Given the description of an element on the screen output the (x, y) to click on. 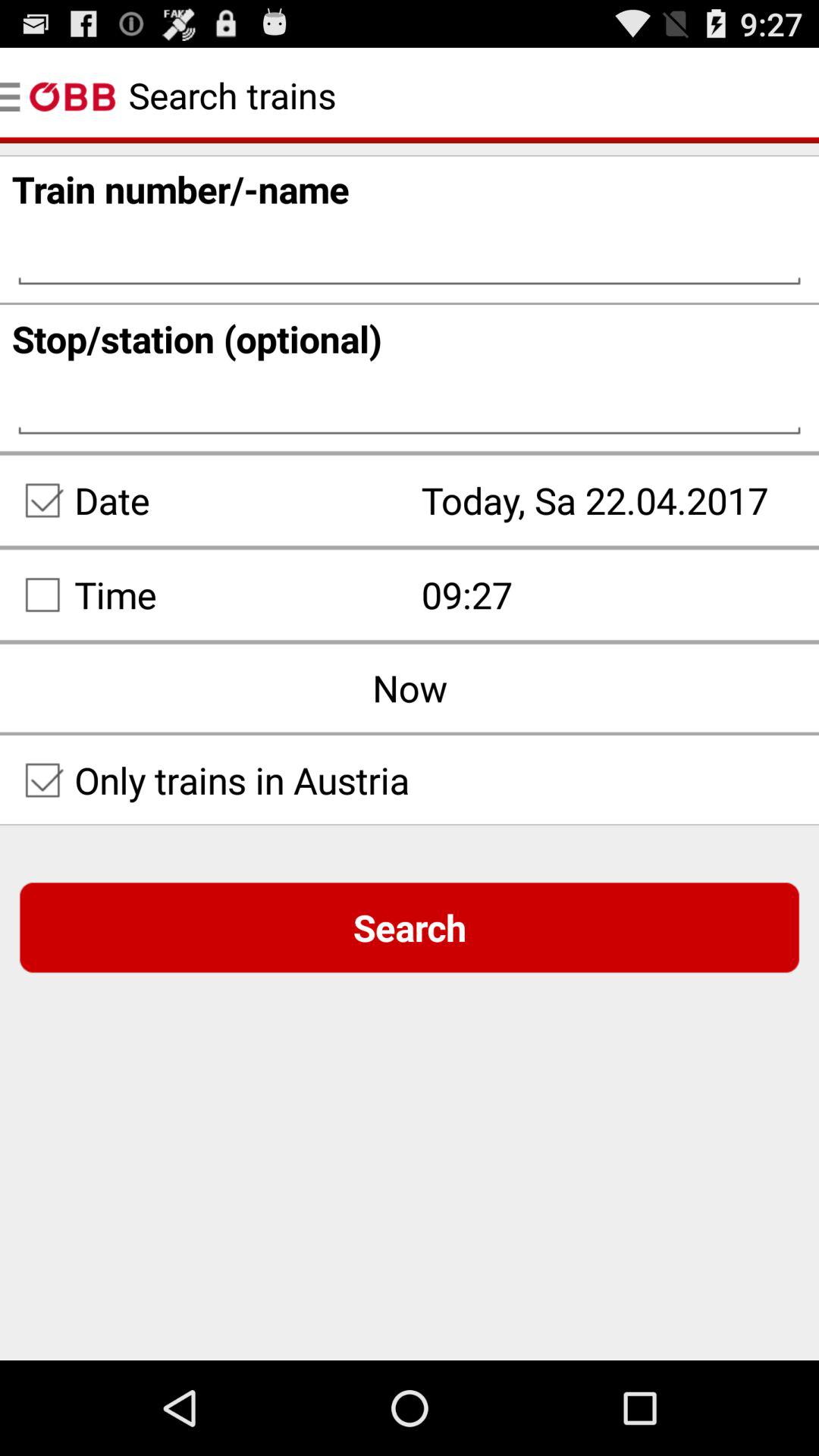
select the 1st text field on the web page (409, 254)
click on the field below now (409, 780)
